Given the description of an element on the screen output the (x, y) to click on. 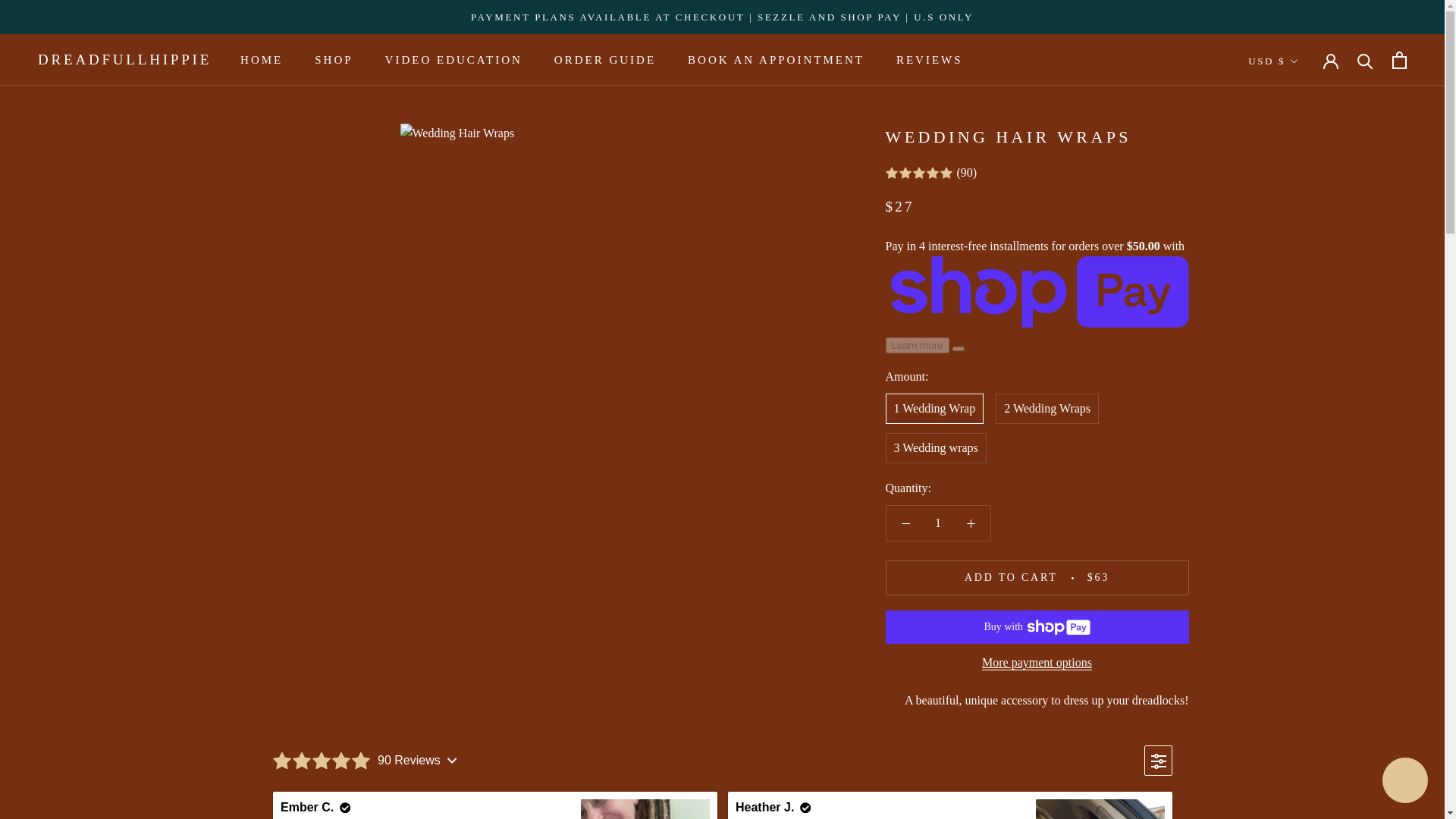
SHOP (333, 60)
Product reviews widget (721, 774)
1 (938, 522)
Shopify online store chat (261, 60)
